Given the description of an element on the screen output the (x, y) to click on. 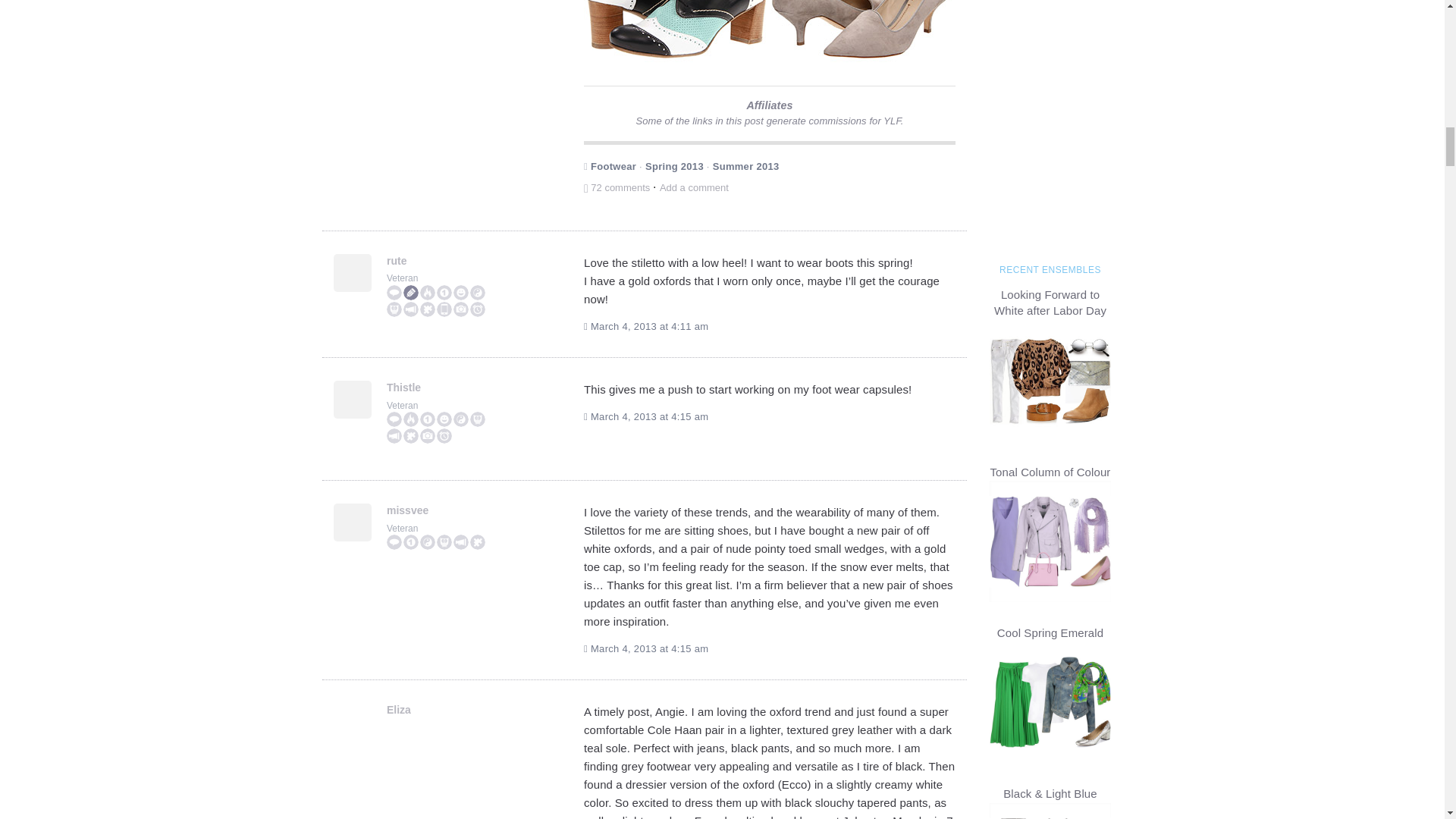
Footwear (613, 165)
72 comments (617, 187)
Elizabeth and James Clark (862, 37)
Add a comment (694, 187)
Summer 2013 (745, 165)
Spring 2013 (674, 165)
Pundit (394, 292)
Fidji G883 (676, 37)
